Given the description of an element on the screen output the (x, y) to click on. 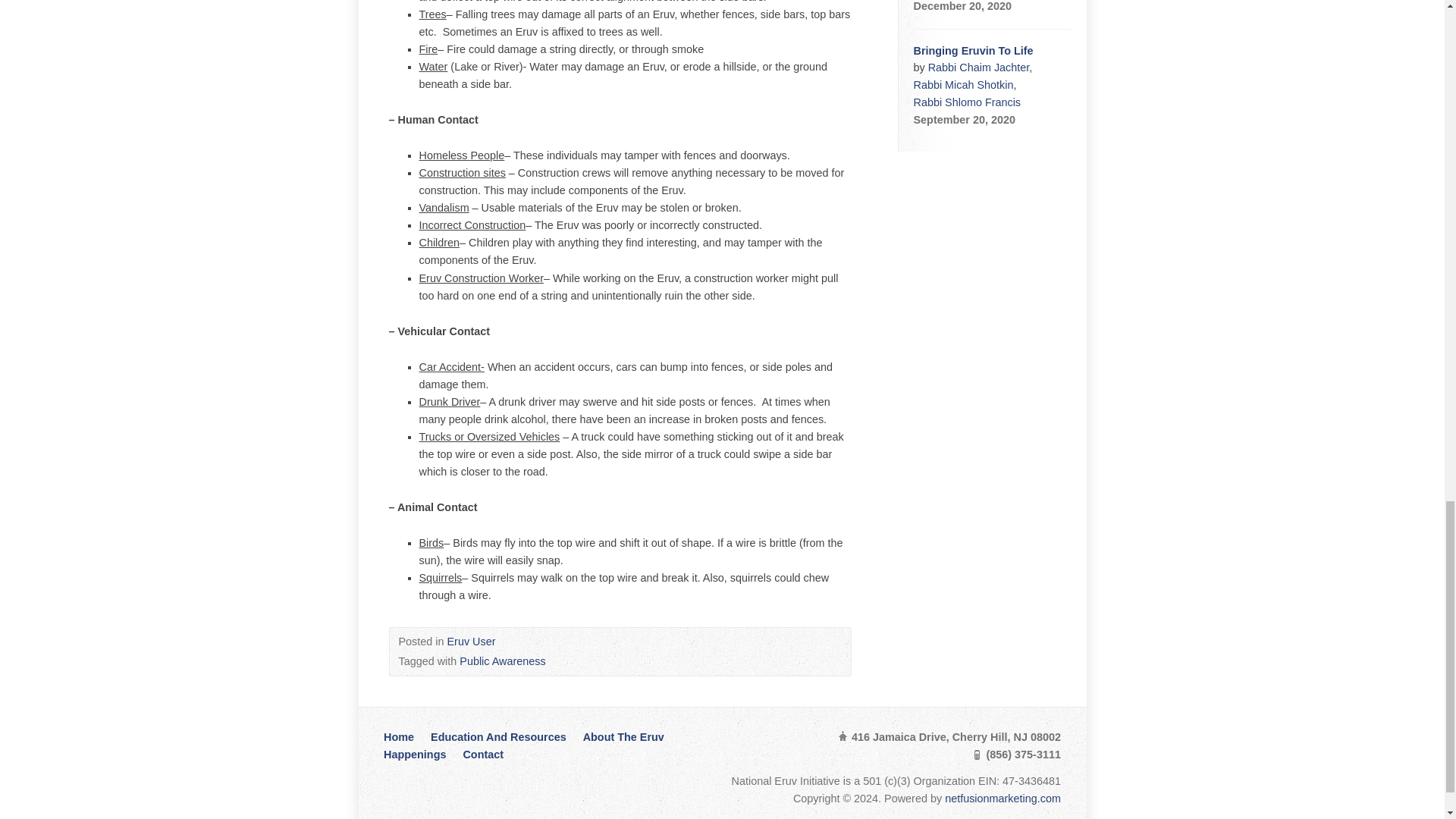
Bringing Eruvin To Life (972, 50)
Eruv User (471, 641)
Public Awareness (502, 661)
